Given the description of an element on the screen output the (x, y) to click on. 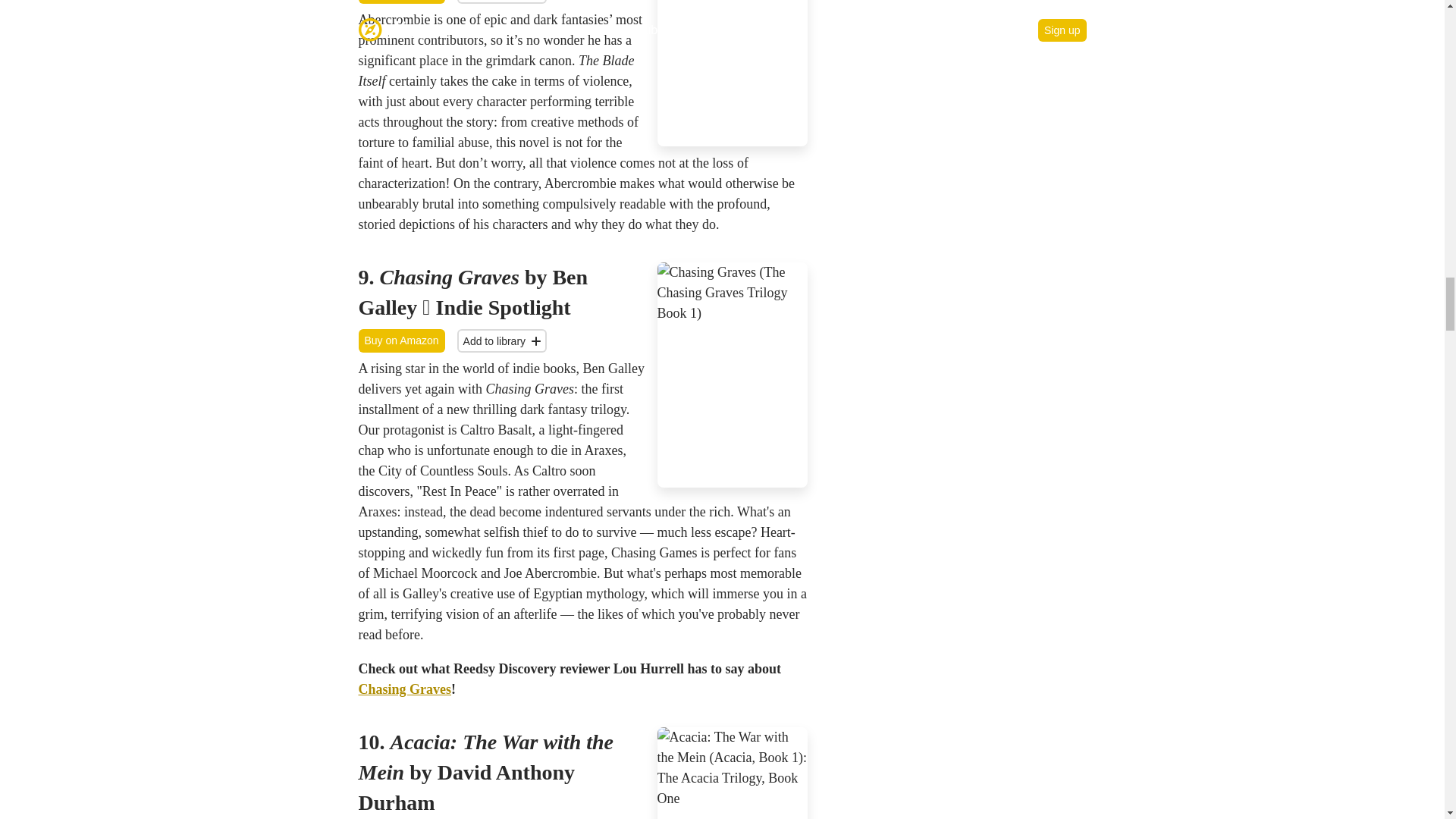
Chasing Graves (404, 688)
Add to library (502, 2)
Buy on Amazon (401, 2)
Add to library (502, 340)
Buy on Amazon (401, 340)
